Given the description of an element on the screen output the (x, y) to click on. 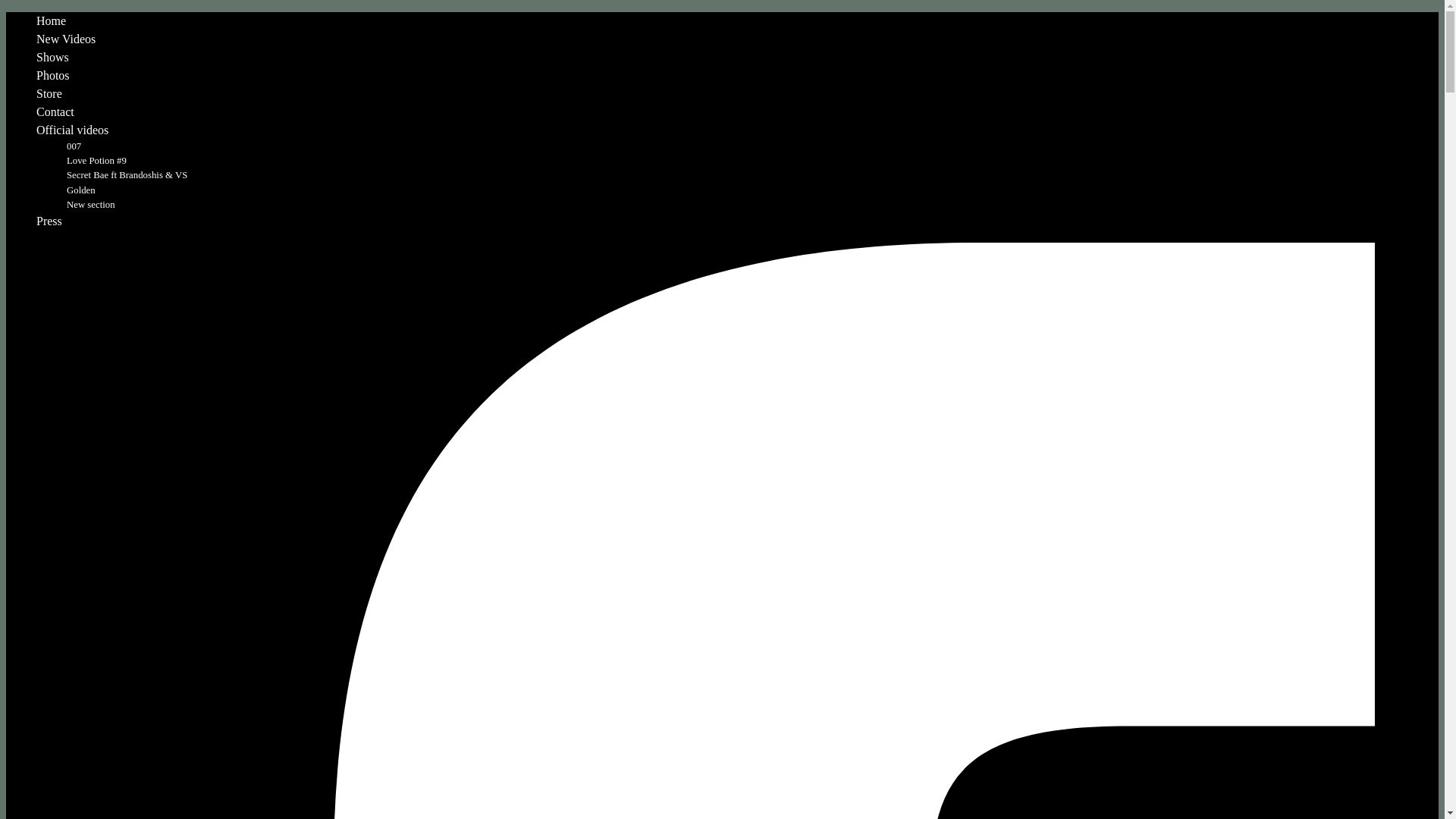
Golden Element type: text (80, 190)
New section Element type: text (90, 204)
Store Element type: text (49, 93)
Secret Bae ft Brandoshis & VS Element type: text (126, 174)
Love Potion #9 Element type: text (96, 160)
Photos Element type: text (52, 75)
Press Element type: text (49, 220)
007 Element type: text (73, 146)
Shows Element type: text (52, 56)
Contact Element type: text (55, 111)
Home Element type: text (50, 20)
Official videos Element type: text (72, 129)
New Videos Element type: text (65, 38)
